Given the description of an element on the screen output the (x, y) to click on. 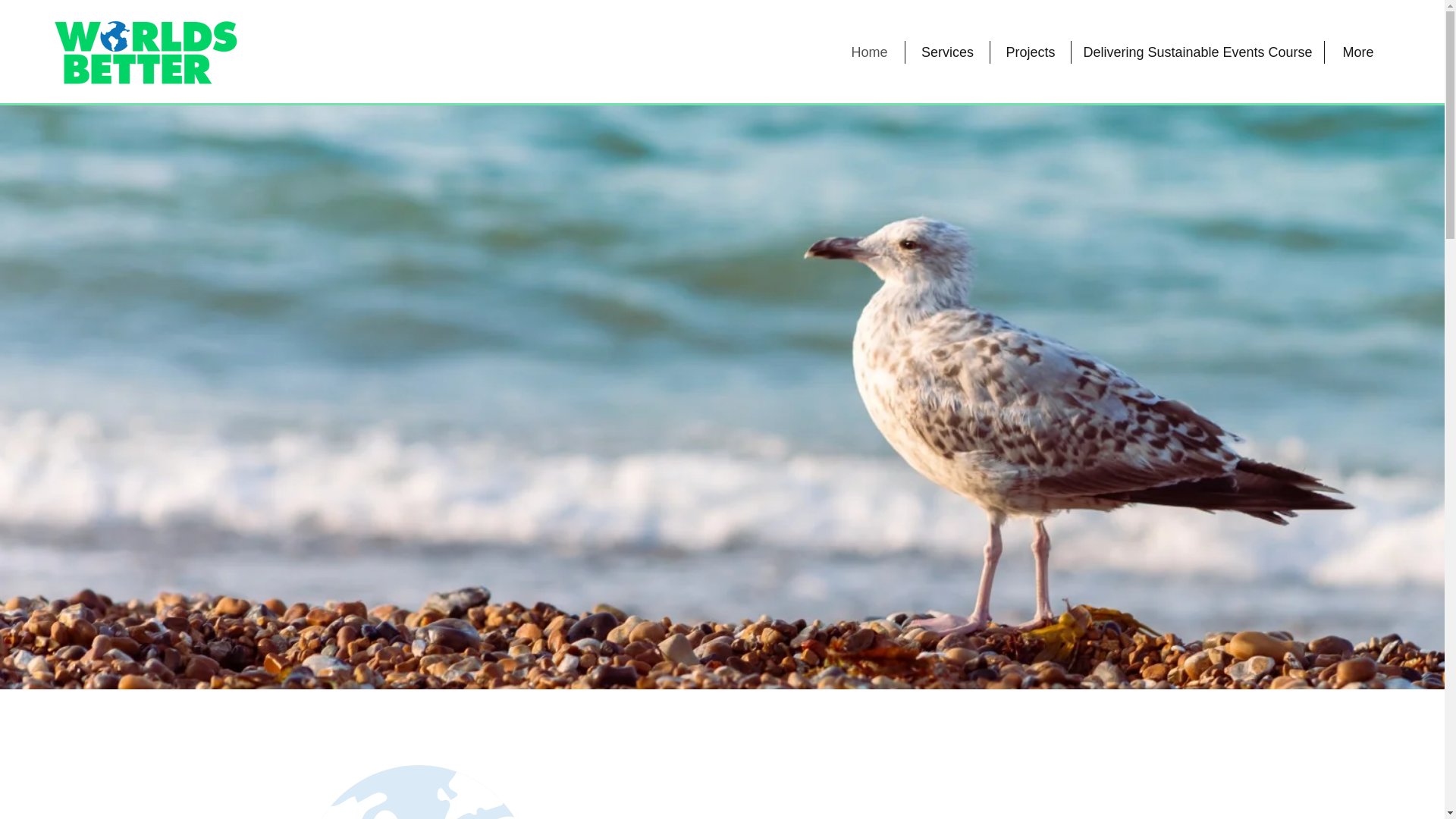
Delivering Sustainable Events Course (1197, 51)
Projects (1030, 51)
Home (869, 51)
Services (947, 51)
